Given the description of an element on the screen output the (x, y) to click on. 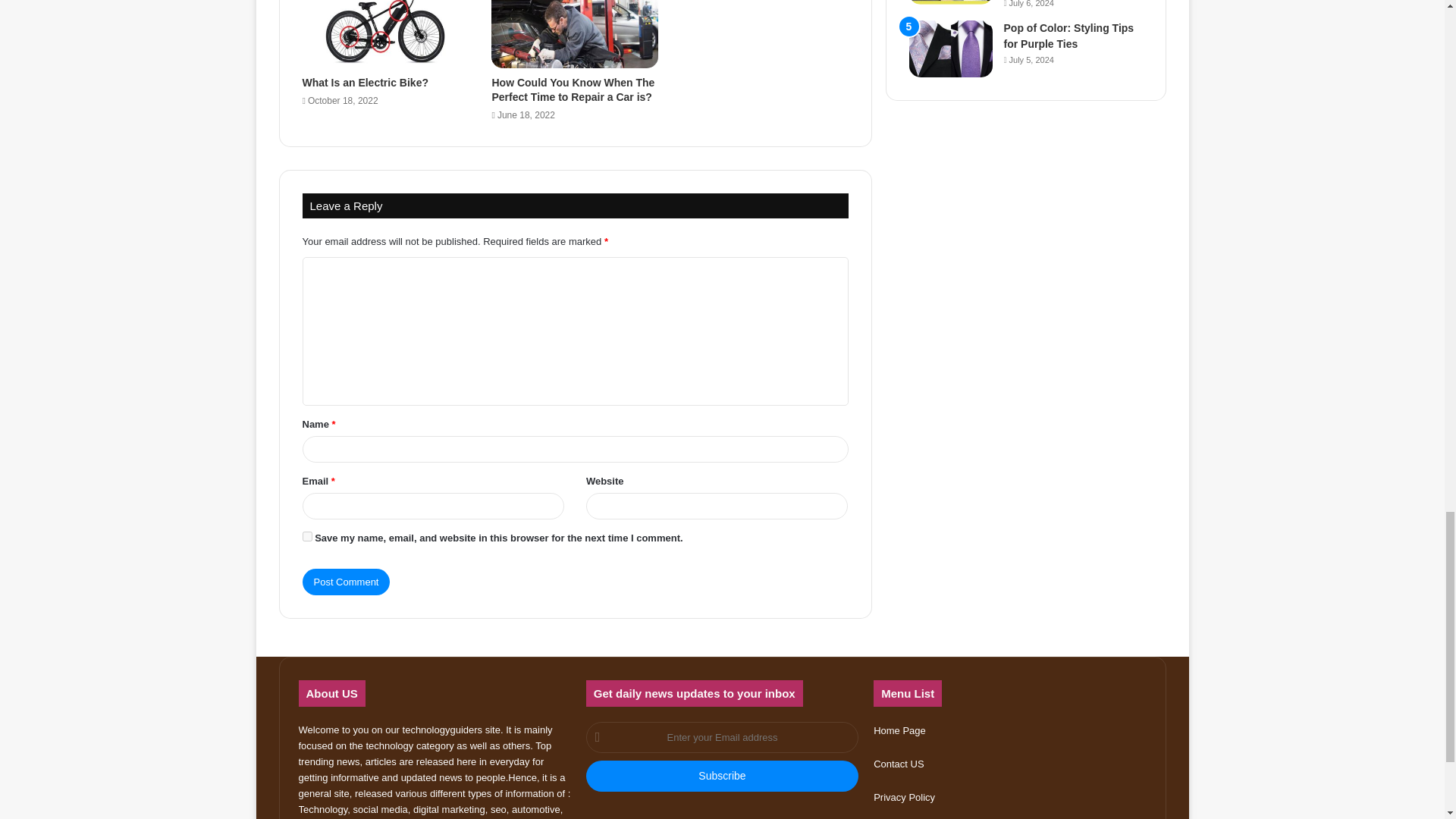
Subscribe (722, 775)
yes (306, 536)
Post Comment (345, 581)
